Given the description of an element on the screen output the (x, y) to click on. 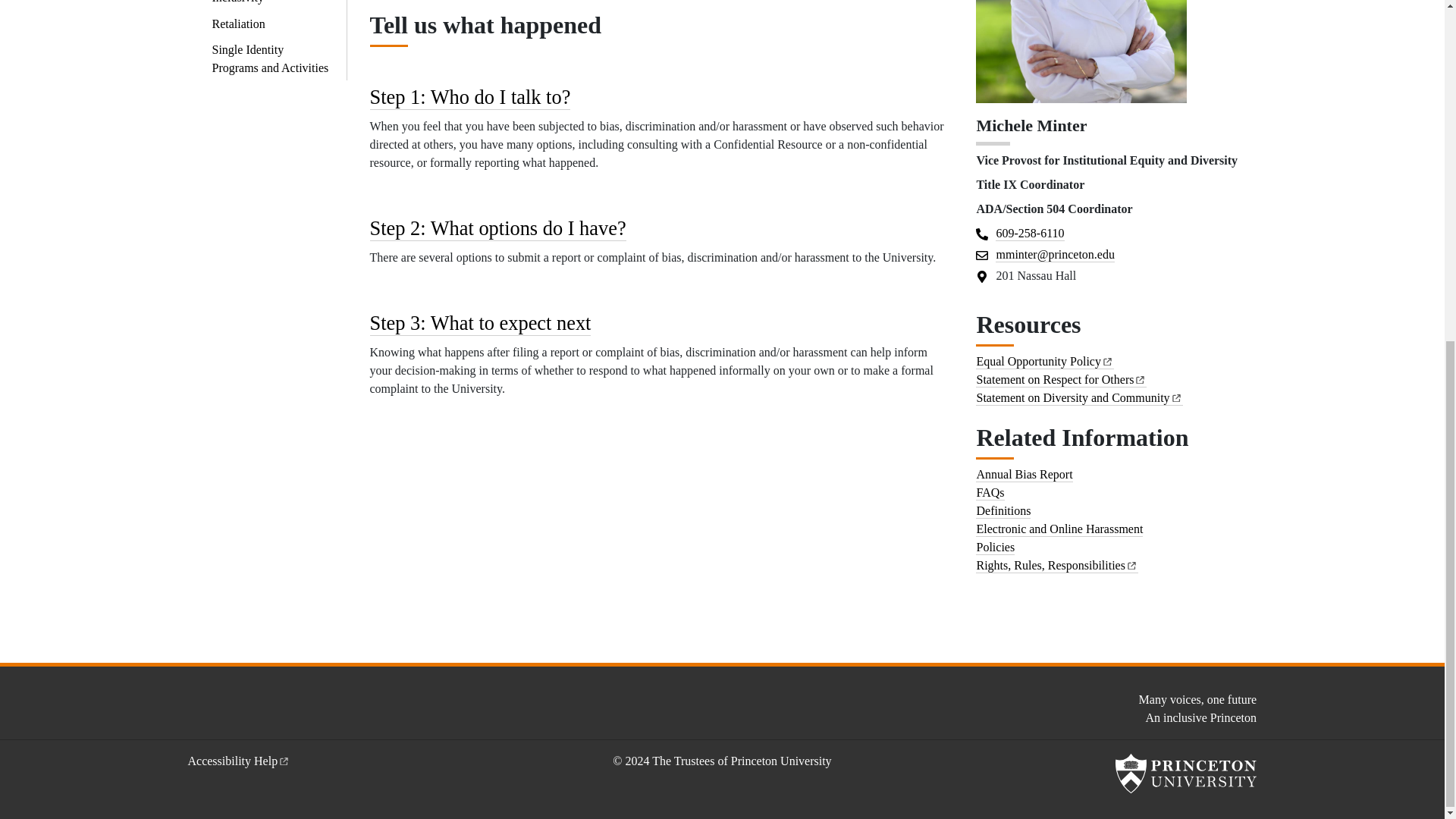
Link is external (1107, 359)
Link is external (283, 759)
Link is external (1130, 563)
Princeton University (1185, 773)
Link is external (1176, 396)
Link is external (1139, 377)
